Given the description of an element on the screen output the (x, y) to click on. 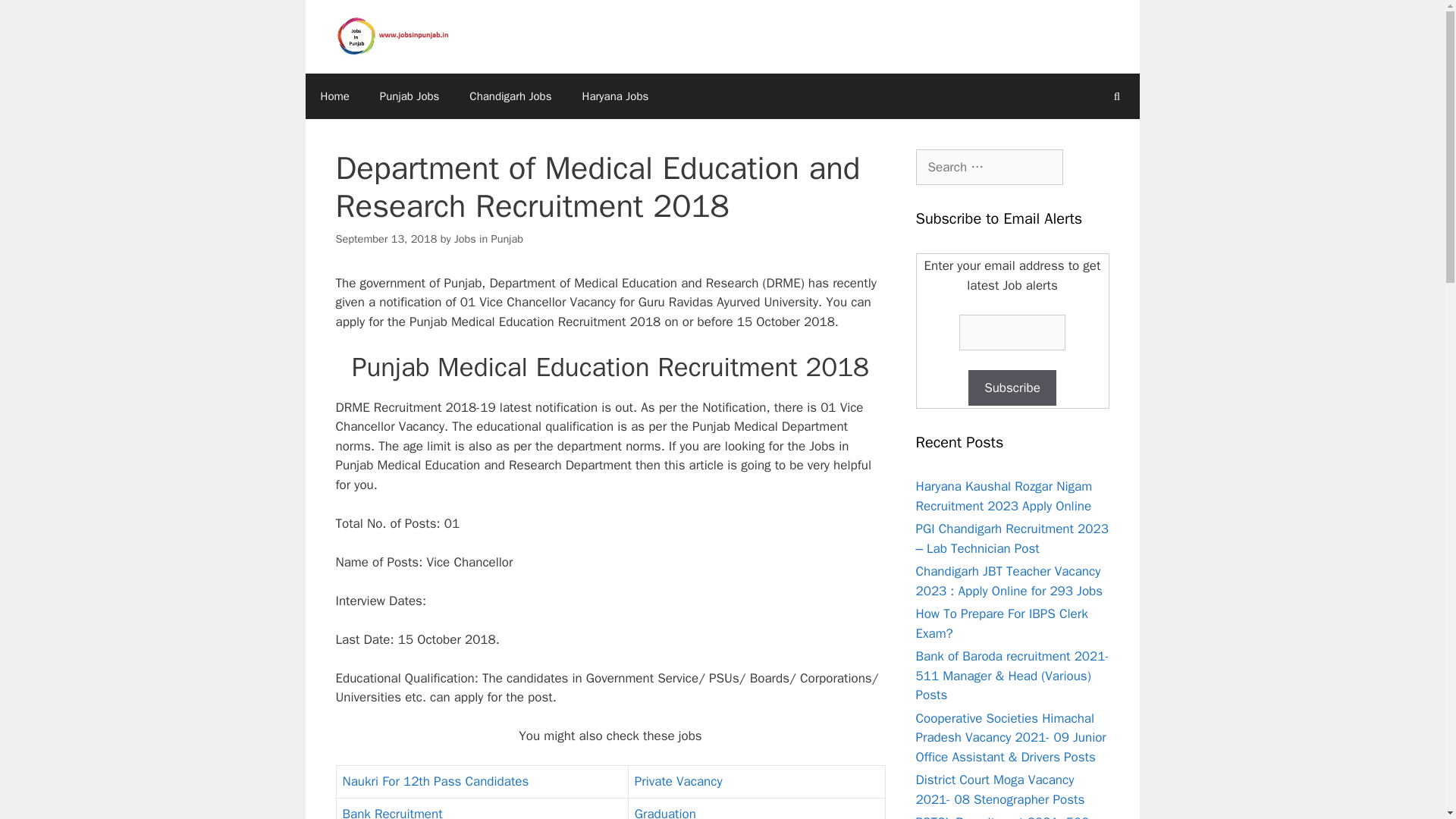
Punjab Jobs (409, 95)
Chandigarh Jobs (510, 95)
View all posts by Jobs in Punjab (488, 238)
Search (35, 18)
Subscribe (1012, 388)
Jobs in Punjab (488, 238)
Haryana Jobs (615, 95)
Private Vacancy (678, 781)
Subscribe (1012, 388)
Bank Recruitment (392, 812)
Home (334, 95)
District Court Moga Vacancy 2021- 08 Stenographer Posts (999, 789)
Haryana Kaushal Rozgar Nigam Recruitment 2023 Apply Online (1004, 496)
